Given the description of an element on the screen output the (x, y) to click on. 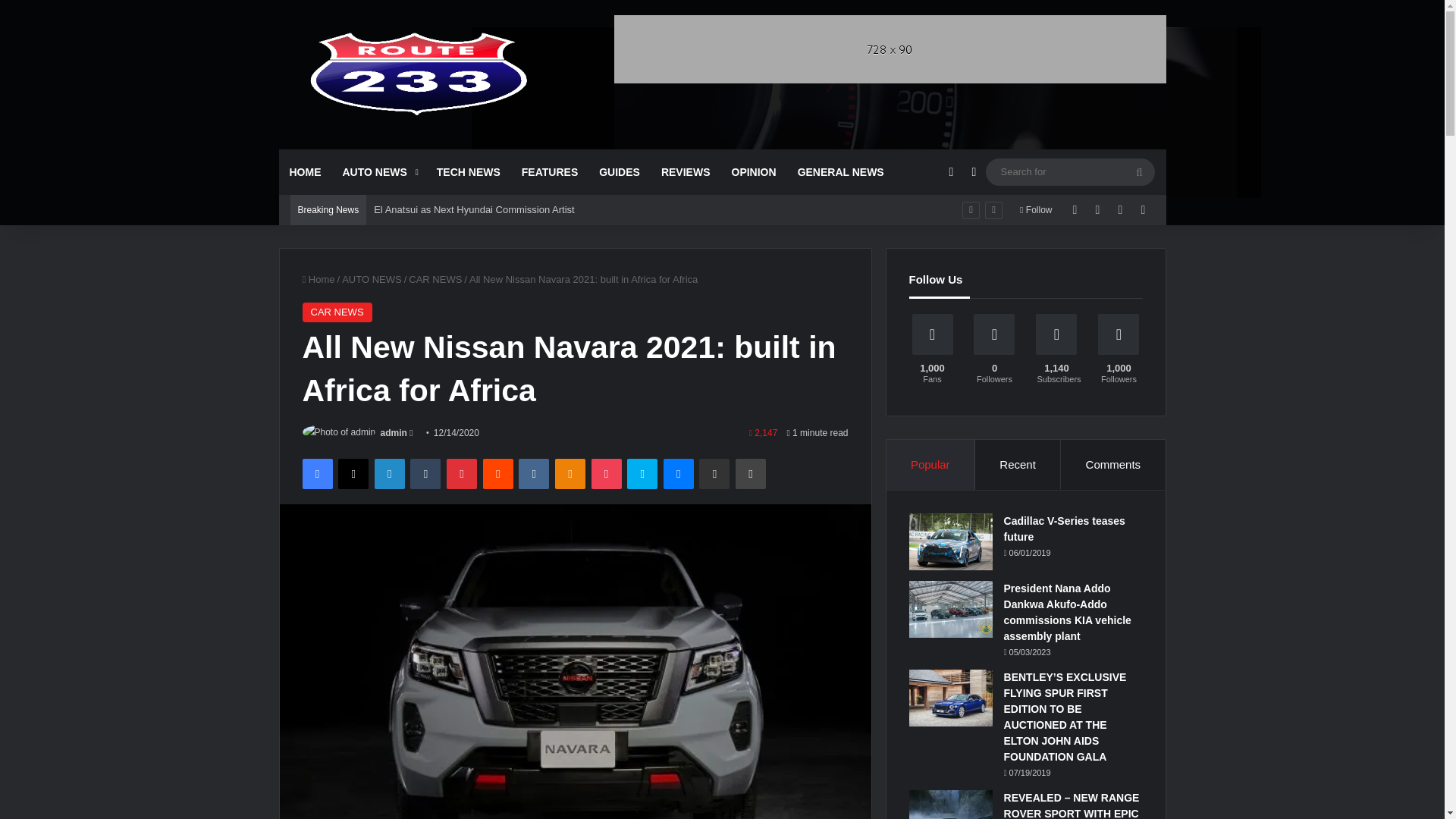
OPINION (753, 171)
FEATURES (549, 171)
X (352, 473)
CAR NEWS (336, 312)
LinkedIn (389, 473)
TECH NEWS (468, 171)
CAR NEWS (435, 279)
Facebook (316, 473)
admin (393, 432)
Follow (1035, 209)
Tumblr (425, 473)
AUTO NEWS (371, 279)
admin (393, 432)
ROUTE 233 - Automotive News Hub!!! (419, 74)
El Anatsui as Next Hyundai Commission Artist (473, 209)
